Given the description of an element on the screen output the (x, y) to click on. 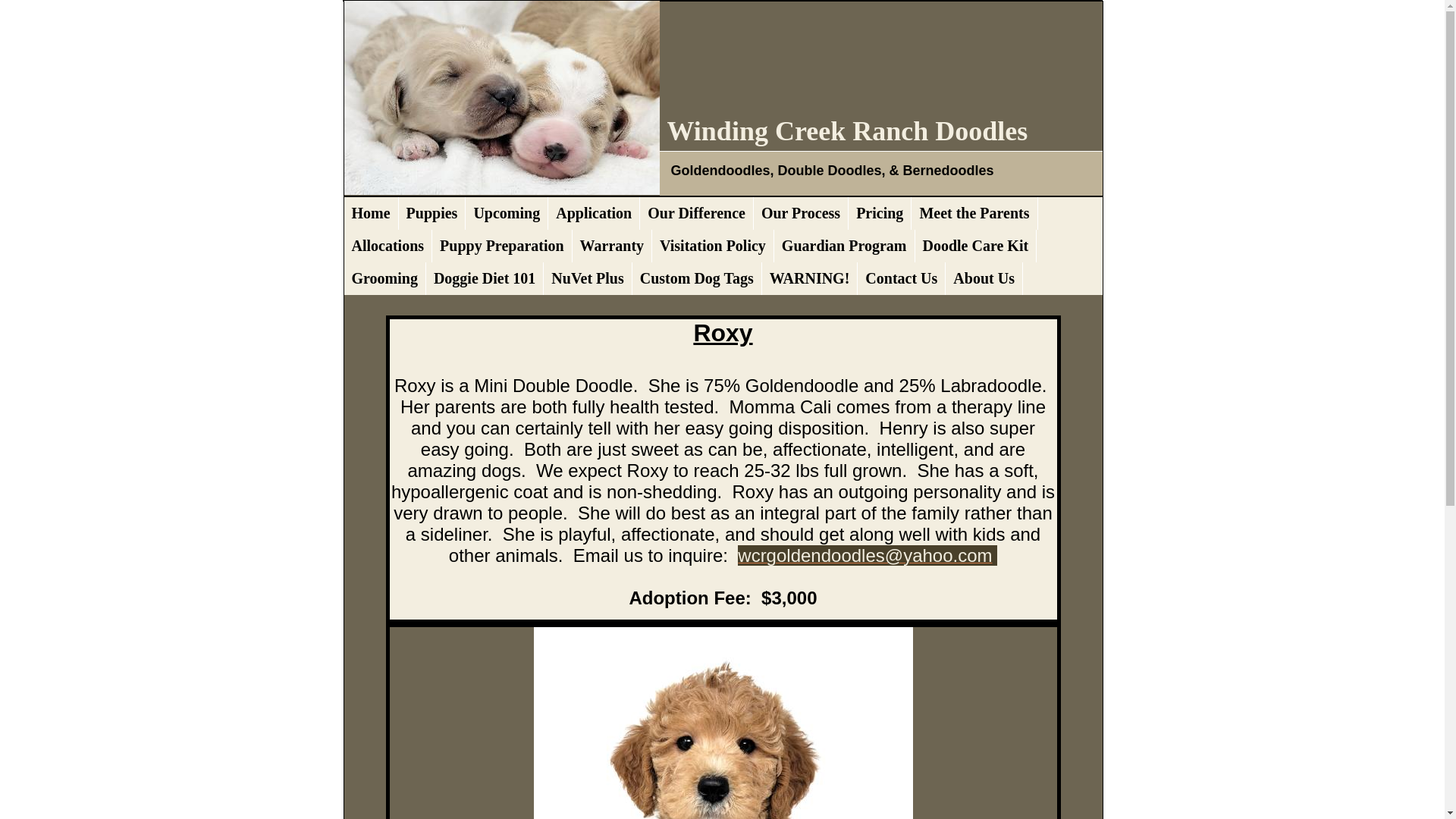
Our Difference (697, 213)
Allocations (387, 246)
WARNING! (810, 278)
Home (370, 213)
Pricing (879, 213)
Meet the Parents (973, 213)
Our Process (801, 213)
Doggie Diet 101 (484, 278)
Guardian Program (844, 246)
Doodle Care Kit (975, 246)
Puppies (431, 213)
Visitation Policy (713, 246)
Application (594, 213)
Puppy Preparation (502, 246)
Warranty (612, 246)
